Given the description of an element on the screen output the (x, y) to click on. 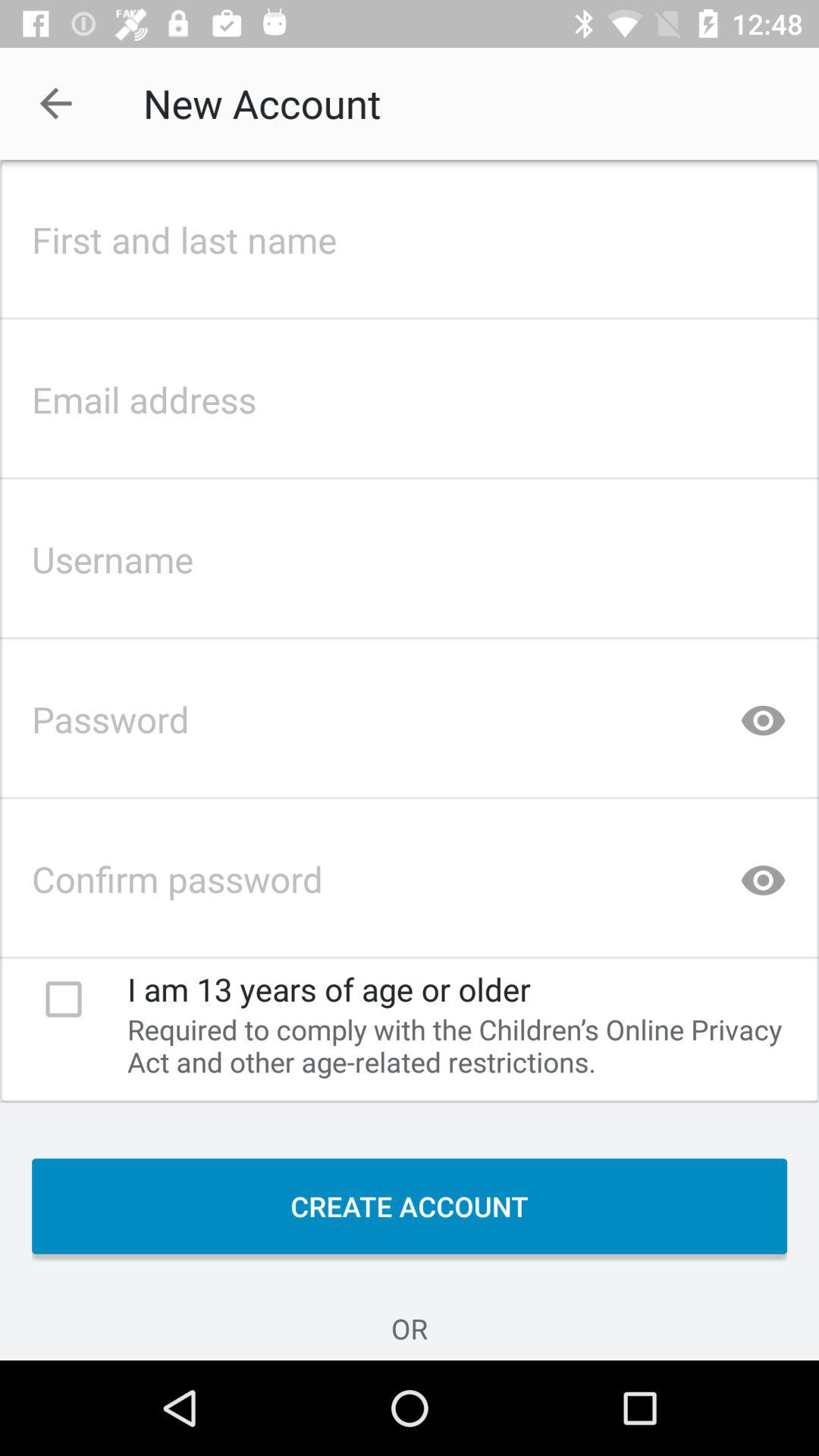
select item to the left of new account icon (55, 103)
